Given the description of an element on the screen output the (x, y) to click on. 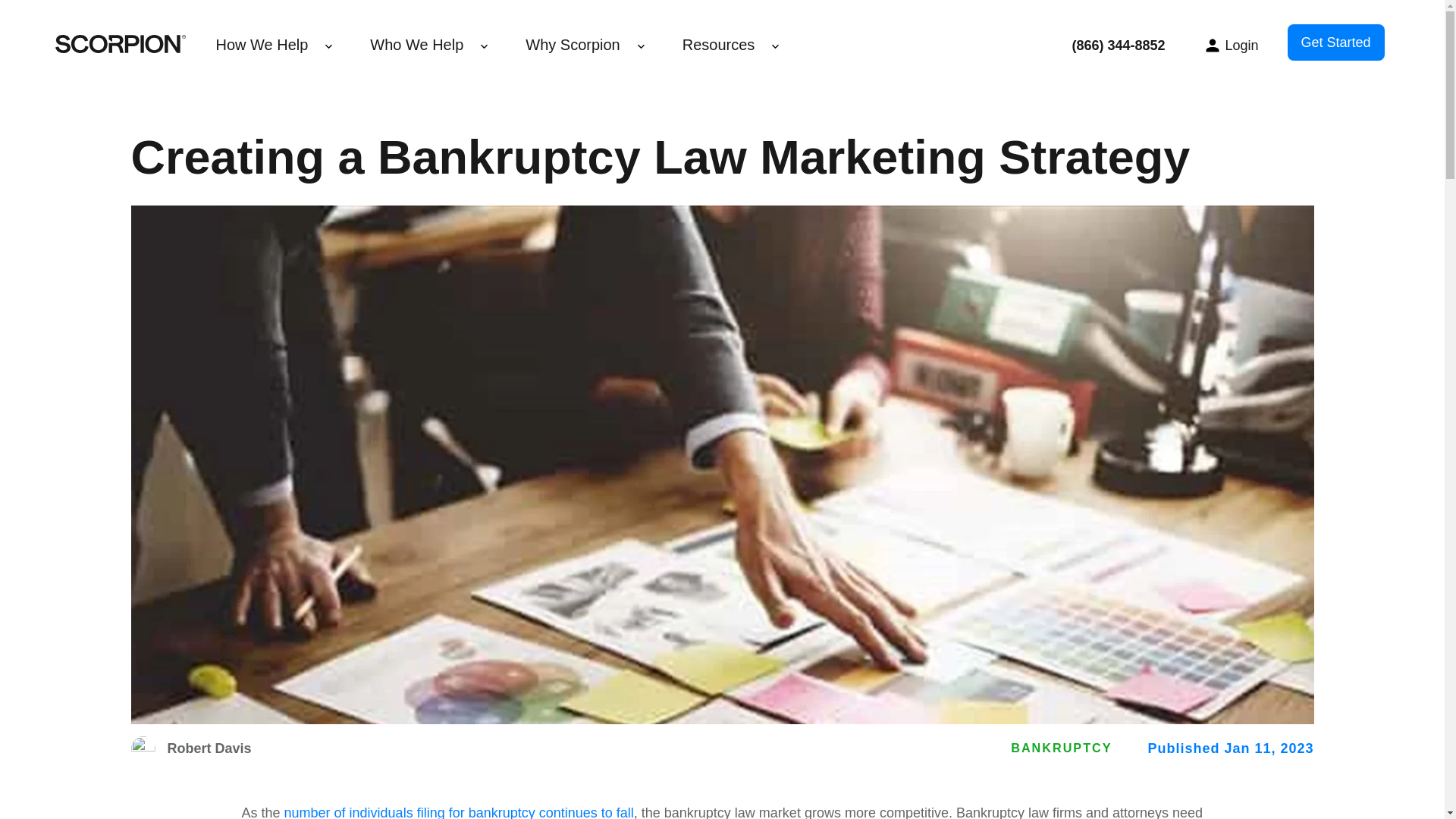
Who We Help (416, 44)
How We Help (261, 44)
